Given the description of an element on the screen output the (x, y) to click on. 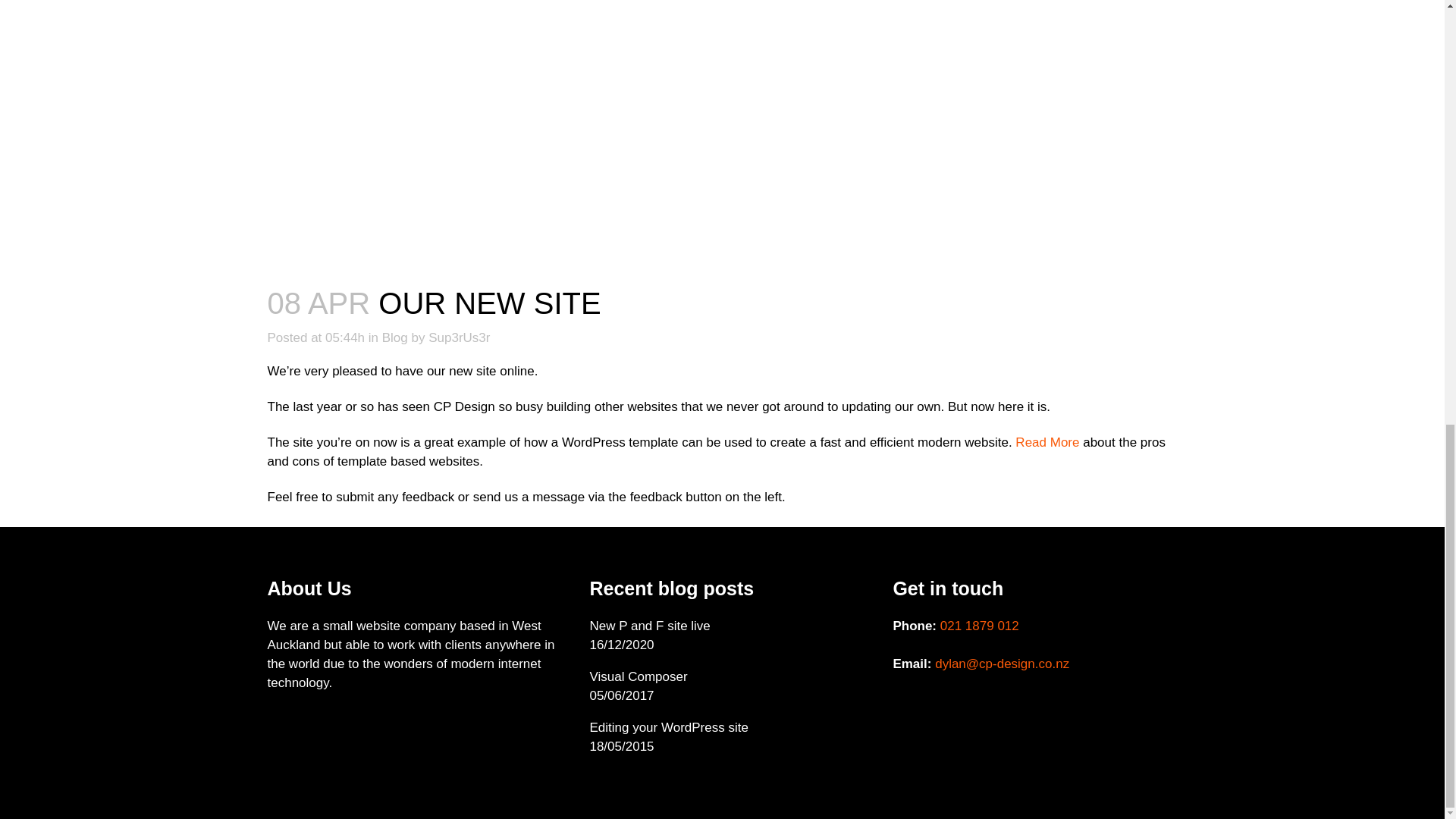
Blog (394, 337)
Visual Composer (729, 676)
021 1879 012 (979, 626)
Editing your WordPress site (729, 727)
New P and F site live (729, 625)
Sup3rUs3r (458, 337)
Read More (1046, 441)
When to Use a Template Website (1046, 441)
